Given the description of an element on the screen output the (x, y) to click on. 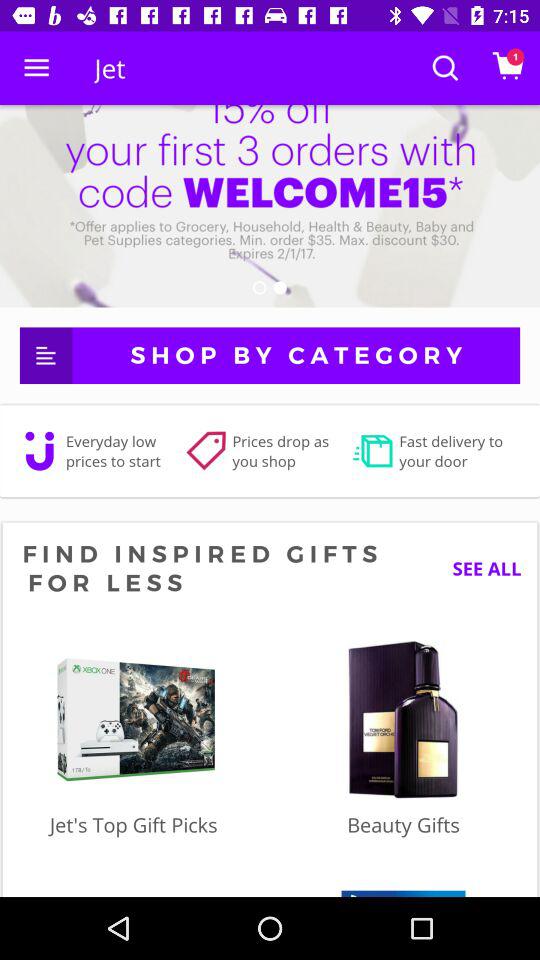
swipe to see all icon (479, 568)
